Given the description of an element on the screen output the (x, y) to click on. 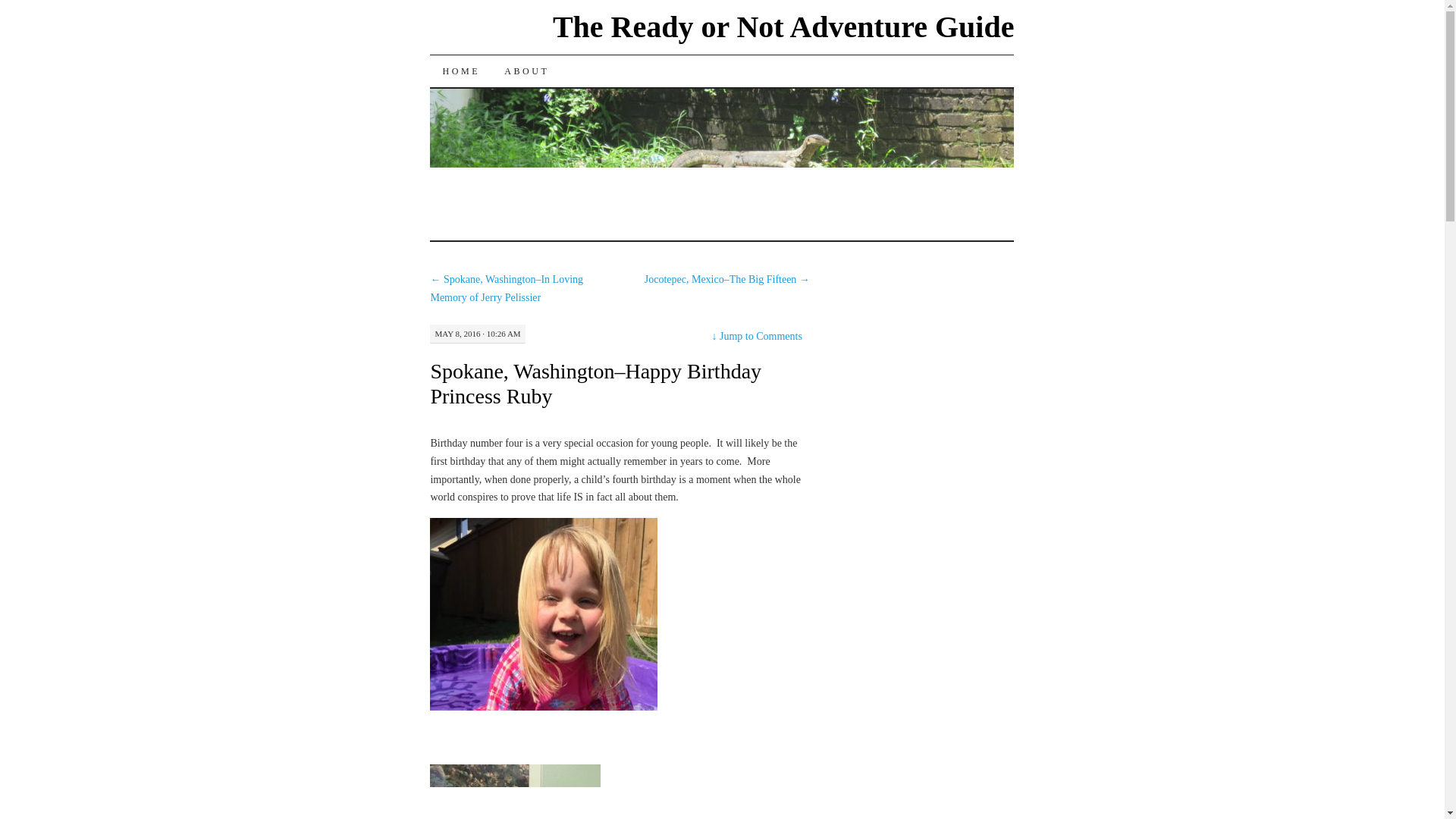
Skip to content (510, 70)
ABOUT (526, 70)
The Ready or Not Adventure Guide (783, 26)
SKIP TO CONTENT (510, 70)
The Ready or Not Adventure Guide (783, 26)
HOME (460, 70)
